Given the description of an element on the screen output the (x, y) to click on. 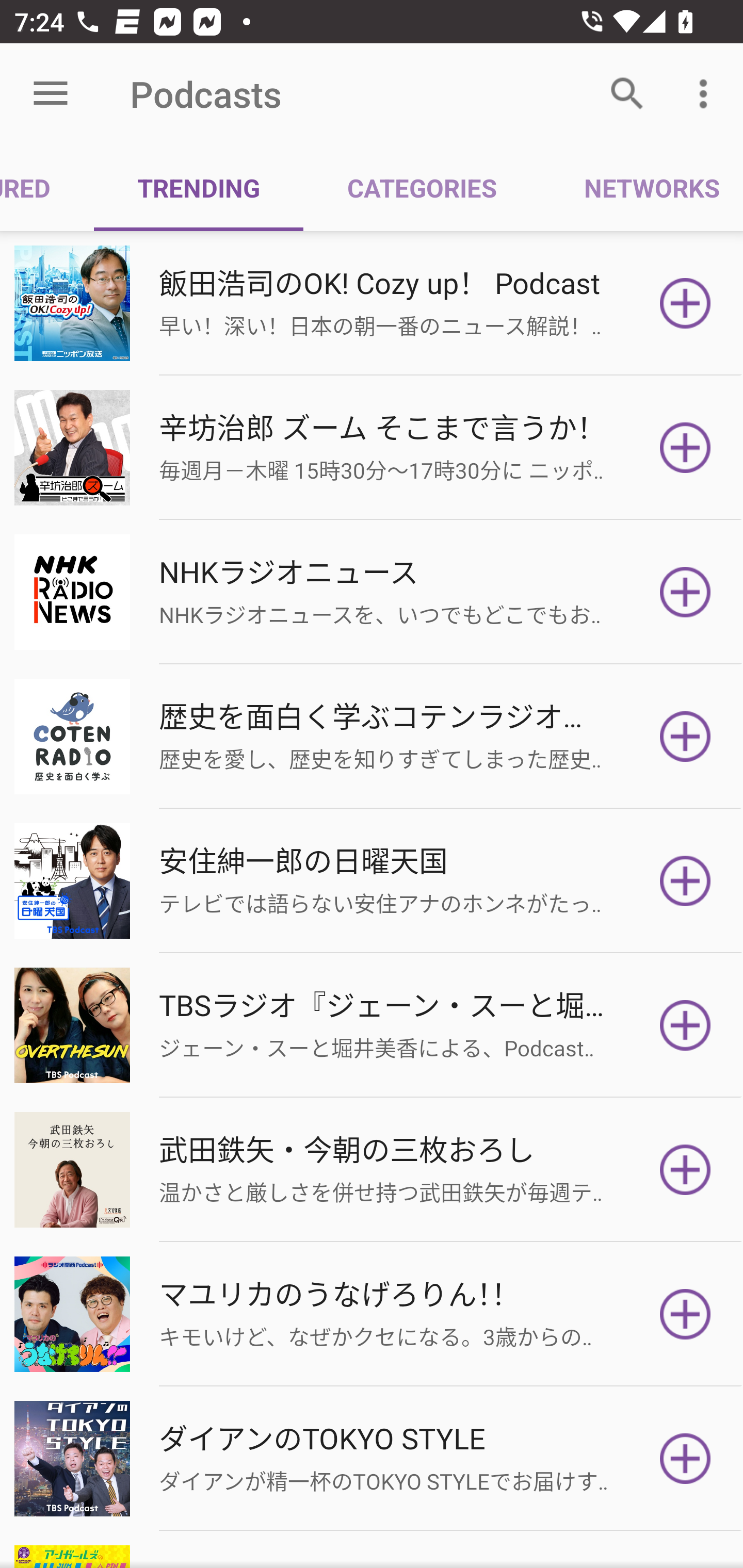
Open menu (50, 93)
Search (626, 93)
More options (706, 93)
TRENDING (198, 187)
CATEGORIES (421, 187)
NETWORKS (641, 187)
Subscribe (685, 303)
Subscribe (685, 447)
Subscribe (685, 591)
Subscribe (685, 736)
Subscribe (685, 881)
Subscribe (685, 1025)
Subscribe (685, 1169)
Subscribe (685, 1313)
Subscribe (685, 1458)
